Given the description of an element on the screen output the (x, y) to click on. 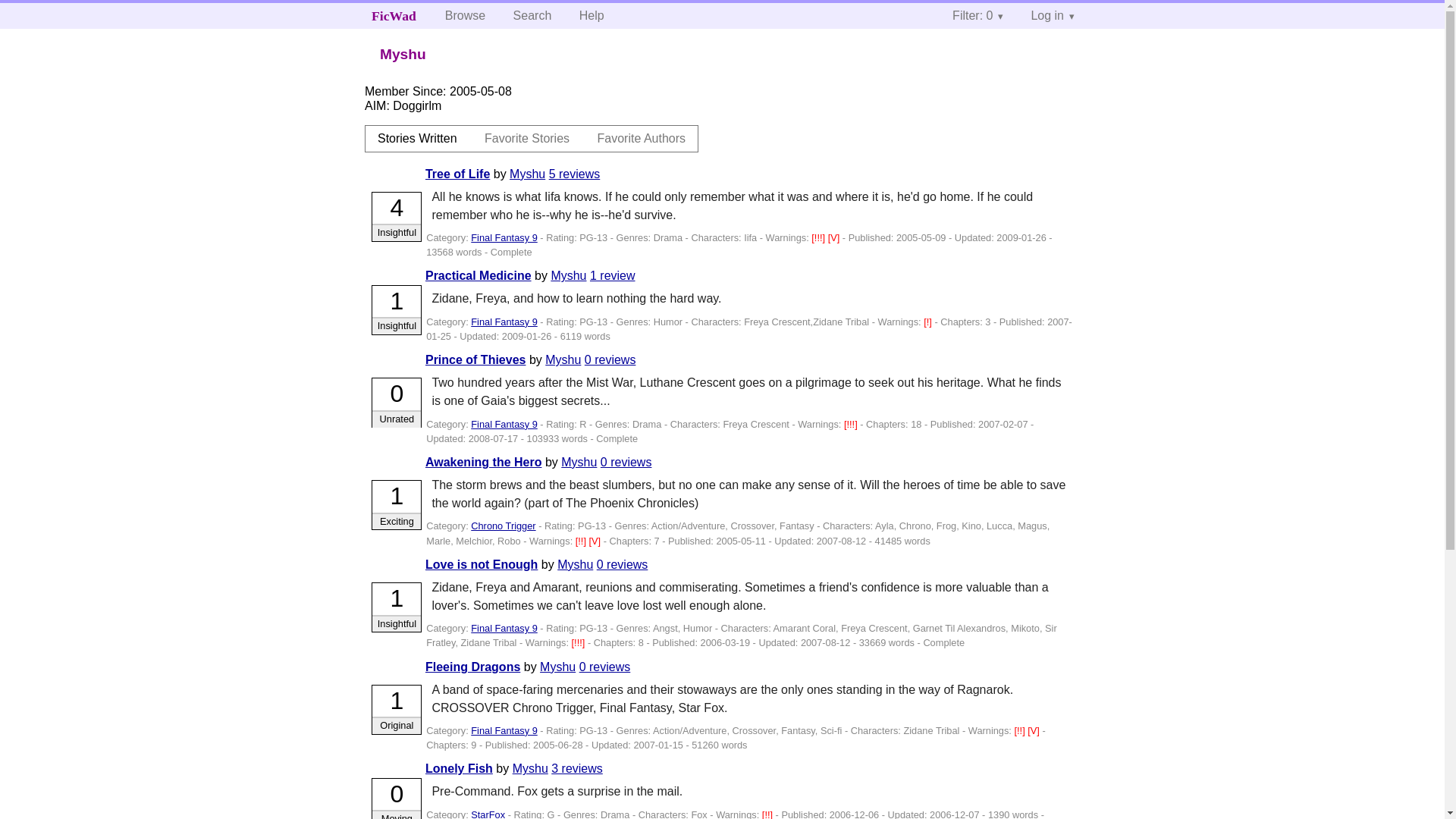
Log in (1051, 15)
Mild Spoilers (928, 321)
Final Fantasy 9 (503, 321)
1 review (611, 275)
Final Fantasy 9 (503, 627)
0 reviews (610, 359)
Final Fantasy 9 (503, 423)
Myshu (574, 563)
Search (532, 15)
Filter: 0 (977, 15)
Myshu (562, 359)
Awakening the Hero (483, 461)
Violence (596, 541)
Stories Written (416, 138)
Favorite Stories (525, 138)
